Given the description of an element on the screen output the (x, y) to click on. 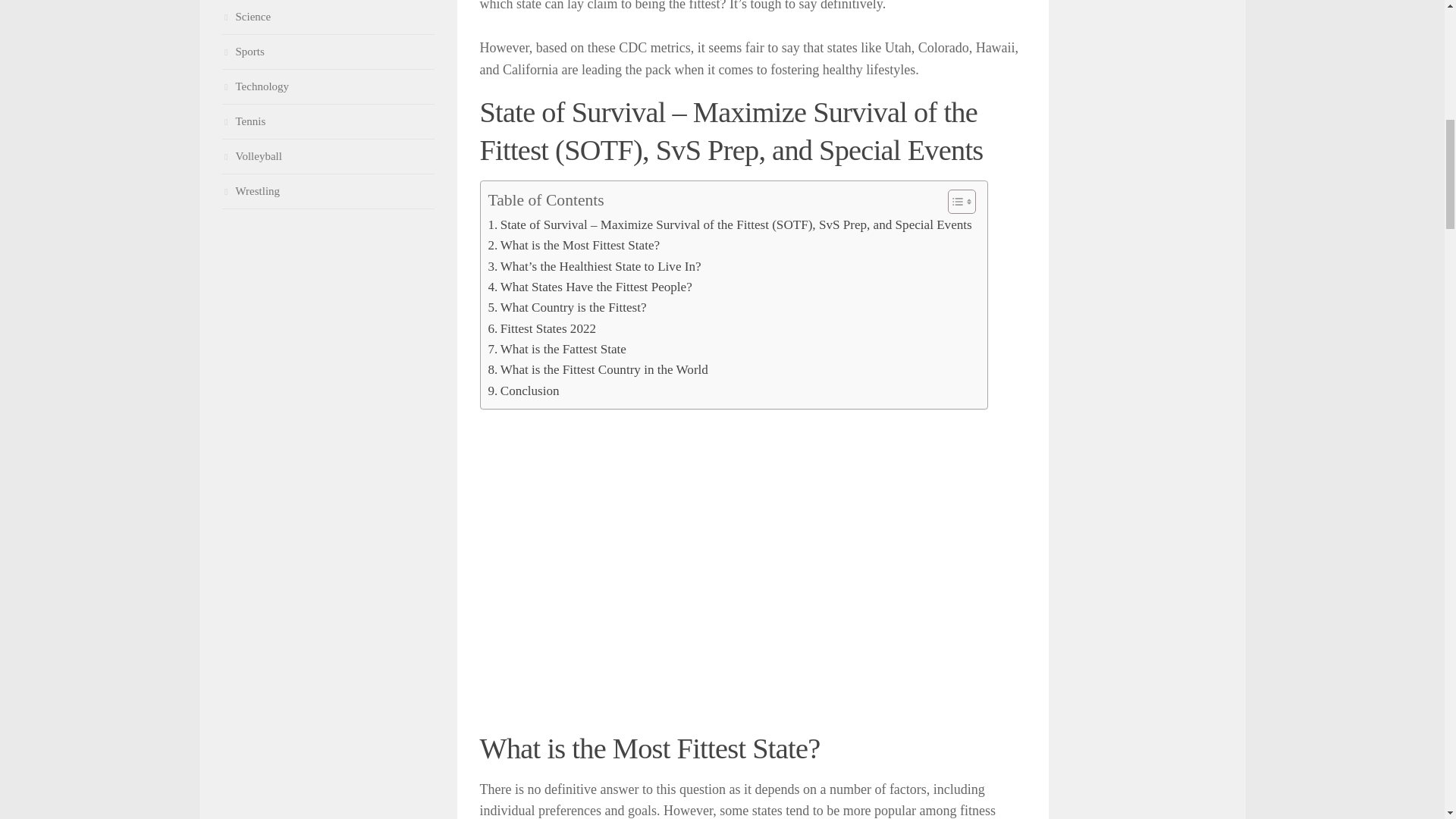
Fittest States 2022  (541, 328)
Conclusion  (523, 390)
What Country is the Fittest?  (566, 307)
What is the Most Fittest State? (574, 245)
What is the Fittest Country in the World  (597, 369)
What is the Fattest State  (556, 349)
What States Have the Fittest People?  (590, 286)
What is the Most Fittest State?  (574, 245)
